Given the description of an element on the screen output the (x, y) to click on. 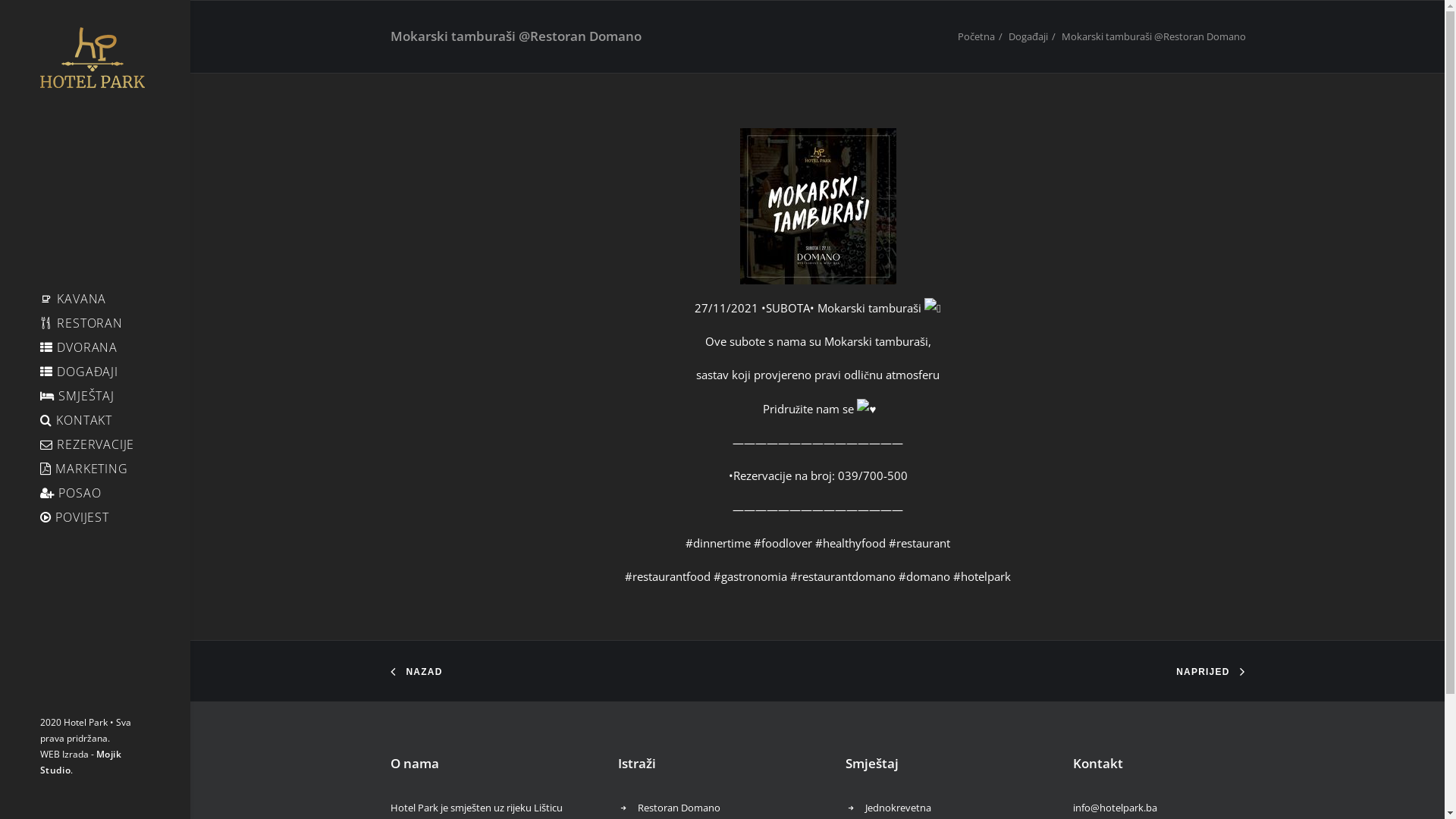
NAZAD Element type: text (423, 672)
info@hotelpark.ba Element type: text (1114, 807)
Jednokrevetna Element type: text (898, 807)
NAPRIJED Element type: text (1202, 672)
Mojik Studio Element type: text (80, 761)
Restoran Domano Element type: text (678, 807)
